Given the description of an element on the screen output the (x, y) to click on. 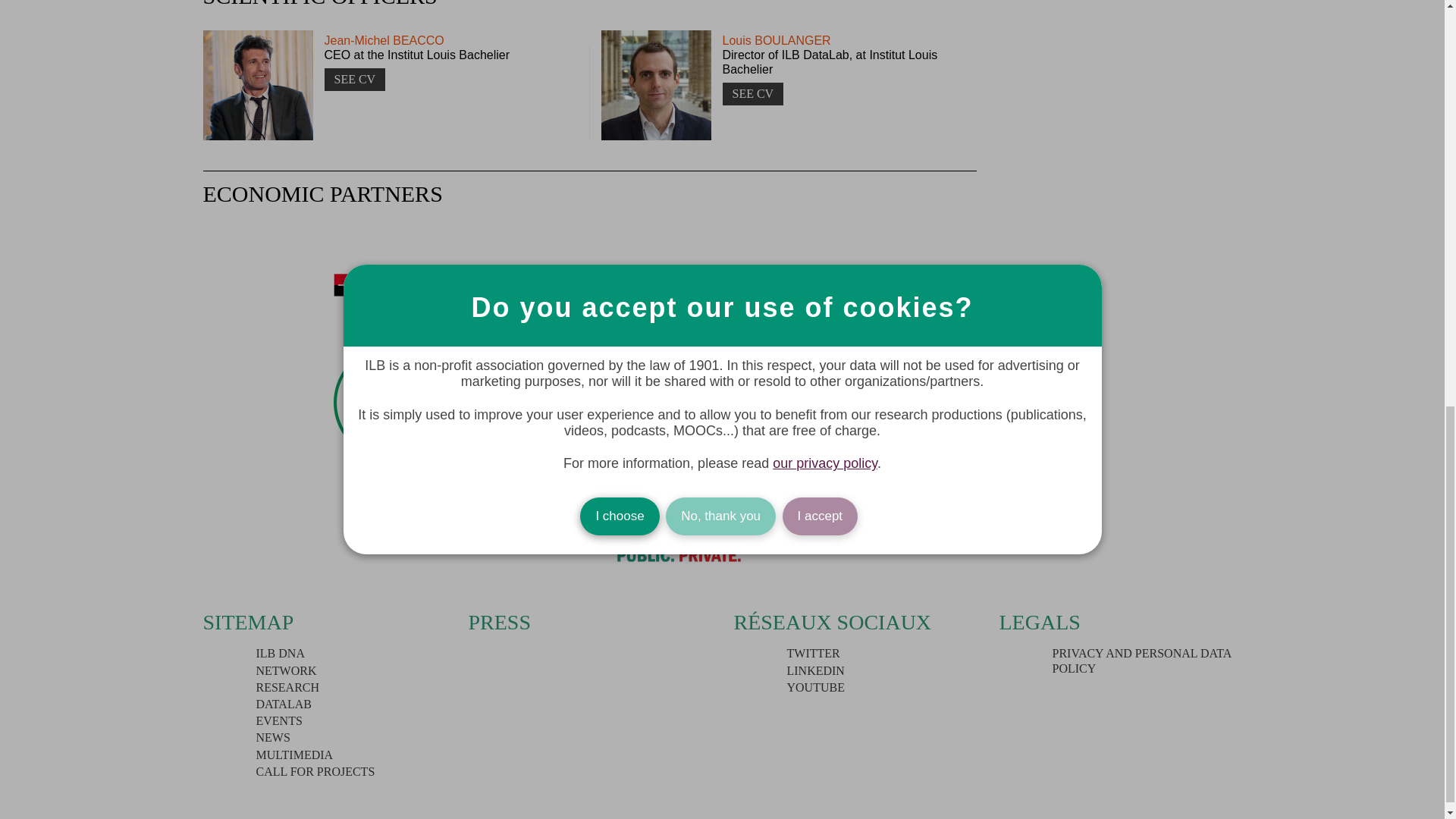
Press (499, 621)
See CV (354, 78)
See CV (752, 93)
